Given the description of an element on the screen output the (x, y) to click on. 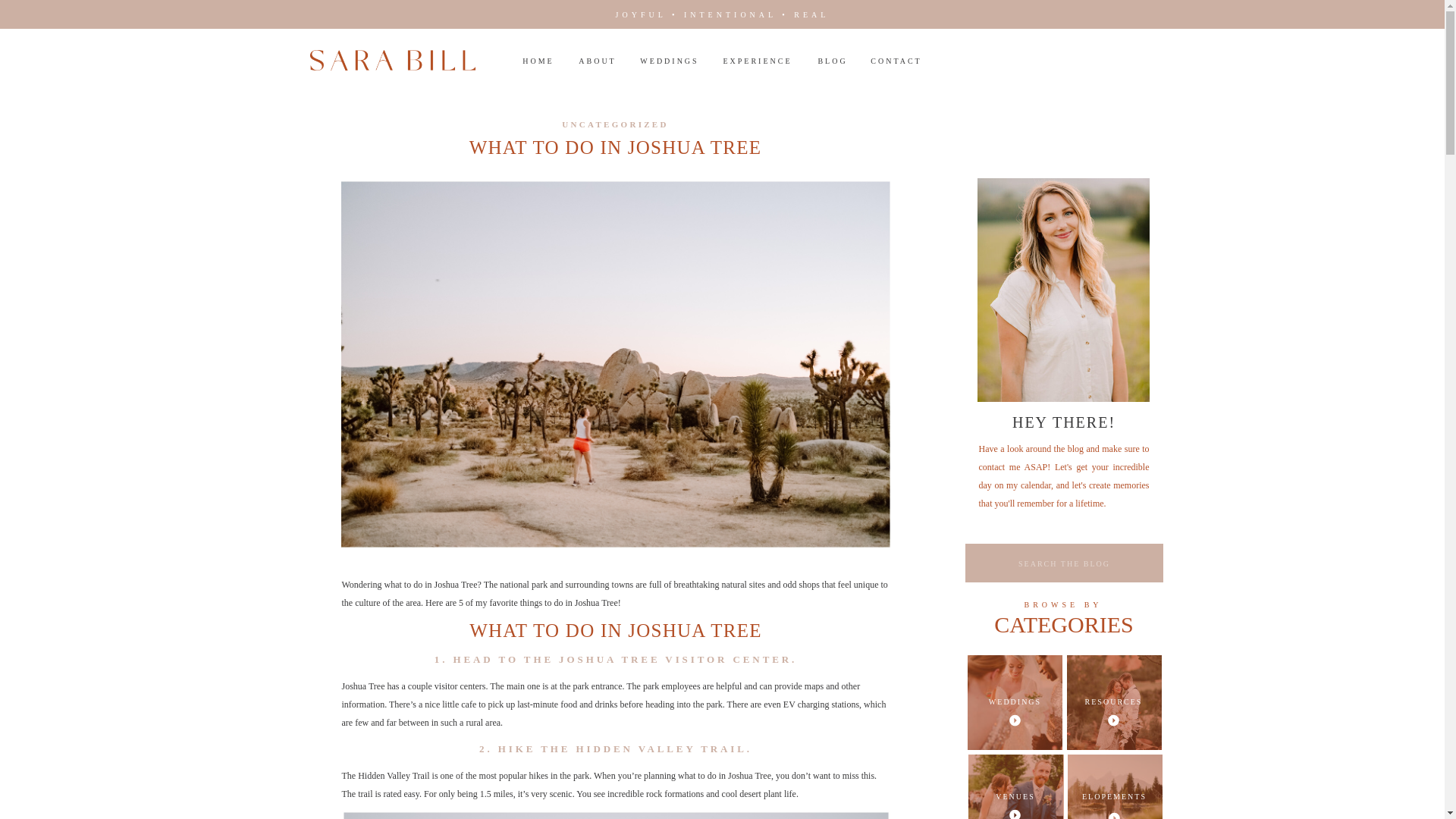
ABOUT (598, 61)
VENUES (1016, 797)
ELOPEMENTS (1114, 798)
WEDDINGS (1015, 702)
CONTACT (895, 62)
HOME (537, 61)
BLOG (832, 61)
EXPERIENCE (757, 61)
RESOURCES (1112, 703)
WEDDINGS (668, 62)
UNCATEGORIZED (615, 123)
